Given the description of an element on the screen output the (x, y) to click on. 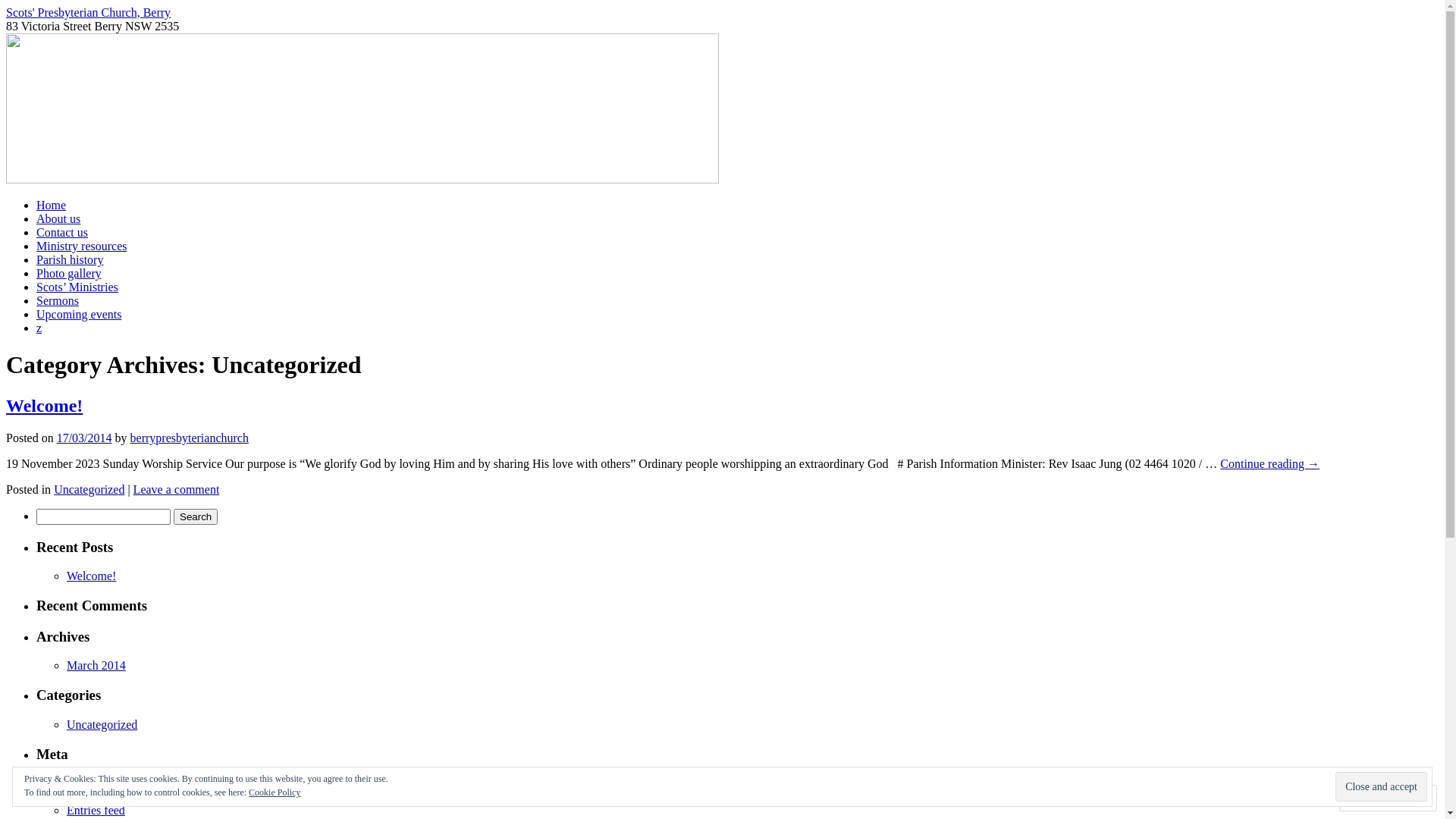
Scots' Presbyterian Church, Berry Element type: hover (362, 178)
Register Element type: text (86, 782)
About us Element type: text (58, 218)
17/03/2014 Element type: text (84, 437)
Search Element type: text (195, 516)
Upcoming events Element type: text (78, 313)
Cookie Policy Element type: text (274, 792)
Parish history Element type: text (69, 259)
Welcome! Element type: text (44, 405)
Entries feed Element type: text (95, 809)
Sermons Element type: text (57, 300)
Uncategorized Element type: text (88, 489)
Close and accept Element type: text (1381, 786)
Photo gallery Element type: text (68, 272)
Uncategorized Element type: text (101, 724)
March 2014 Element type: text (95, 664)
Leave a comment Element type: text (176, 489)
Log in Element type: text (82, 796)
berrypresbyterianchurch Element type: text (189, 437)
Follow Element type: text (1373, 797)
z Element type: text (38, 327)
Home Element type: text (50, 204)
Contact us Element type: text (61, 231)
Welcome! Element type: text (91, 575)
Scots' Presbyterian Church, Berry Element type: text (88, 12)
Ministry resources Element type: text (81, 245)
